Given the description of an element on the screen output the (x, y) to click on. 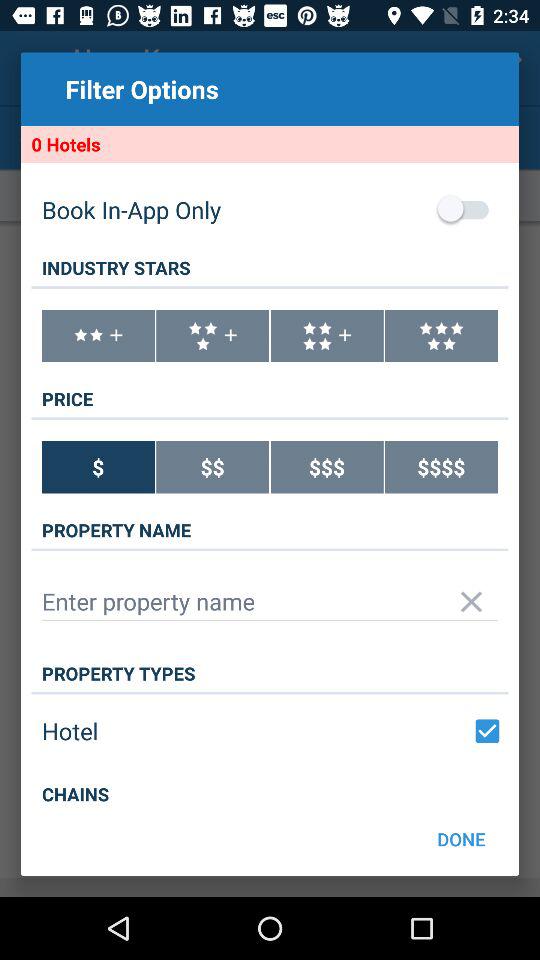
see only 4+ star rating (326, 335)
